Given the description of an element on the screen output the (x, y) to click on. 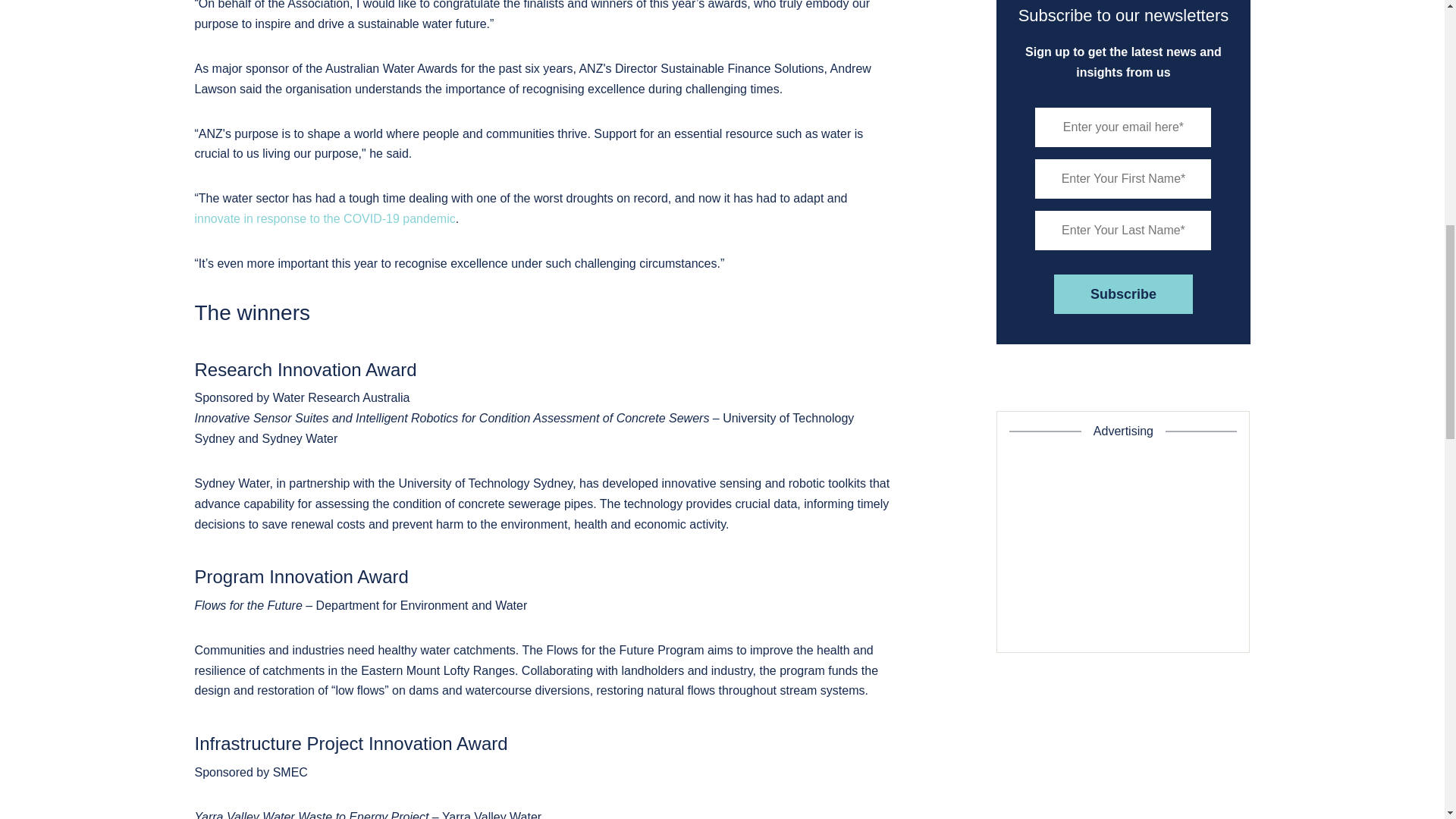
Subscribe (1123, 293)
